Given the description of an element on the screen output the (x, y) to click on. 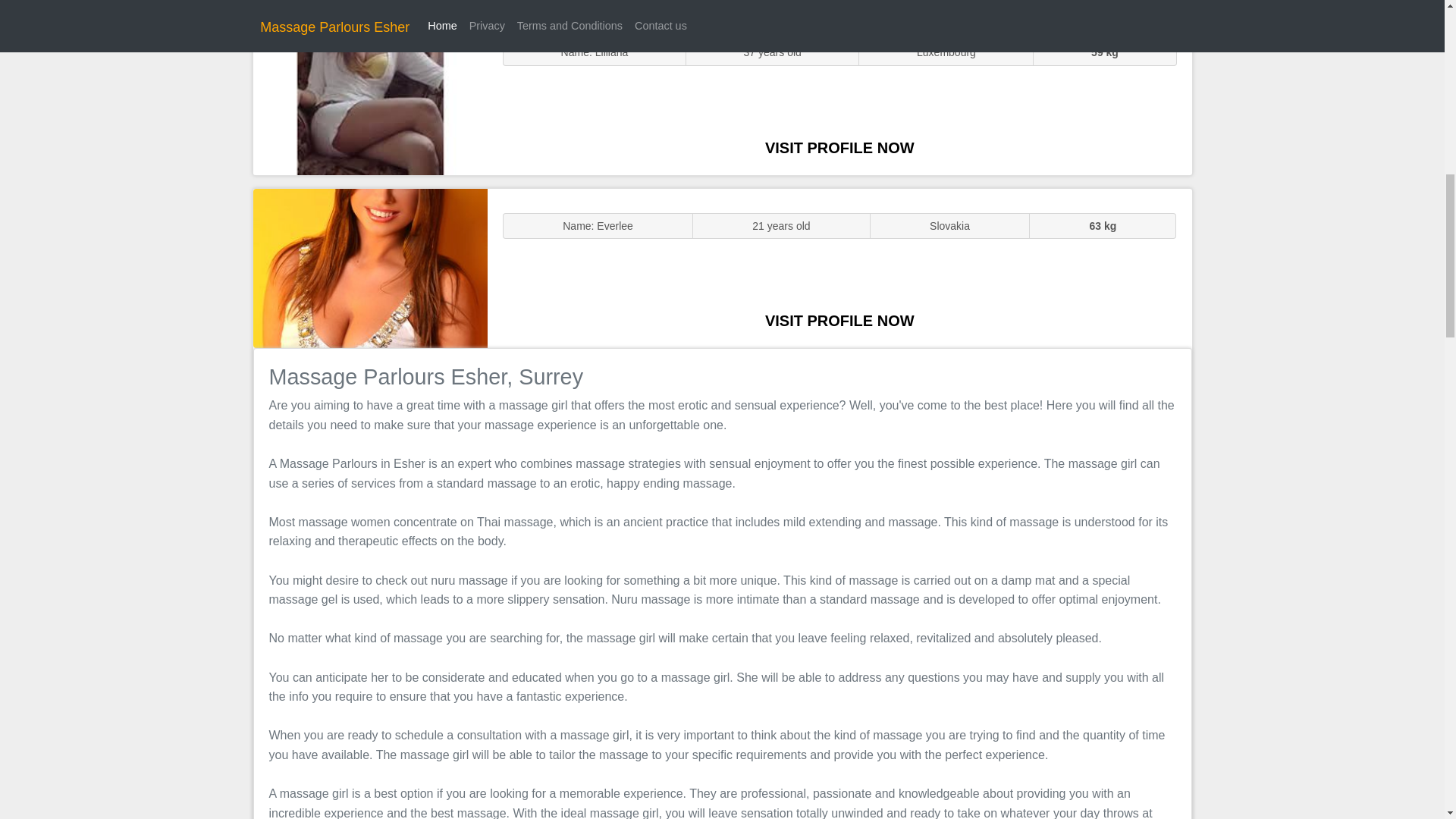
Sluts (370, 94)
VISIT PROFILE NOW (839, 147)
VISIT PROFILE NOW (839, 320)
Massage (370, 267)
